Given the description of an element on the screen output the (x, y) to click on. 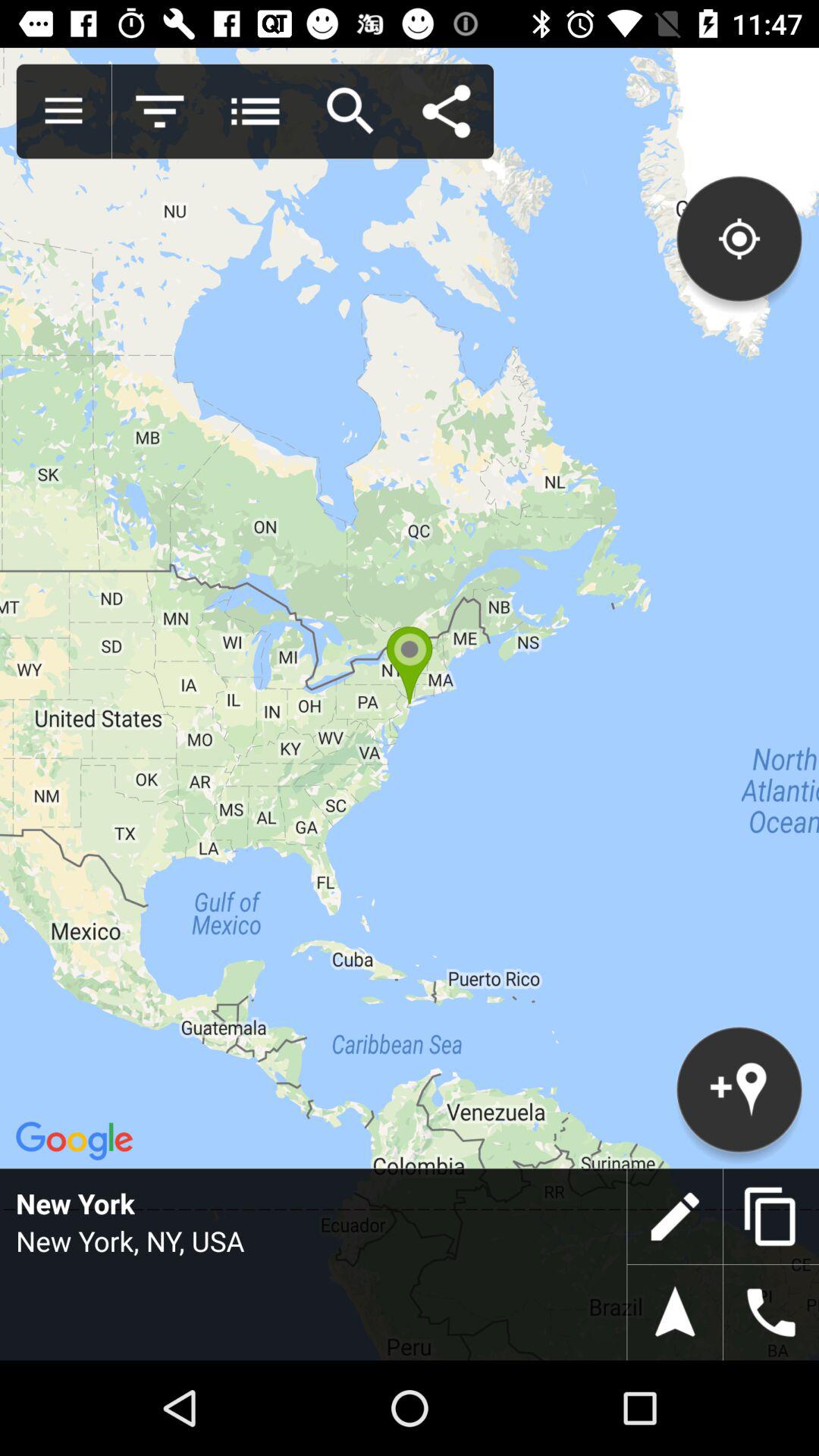
edit location (674, 1216)
